Given the description of an element on the screen output the (x, y) to click on. 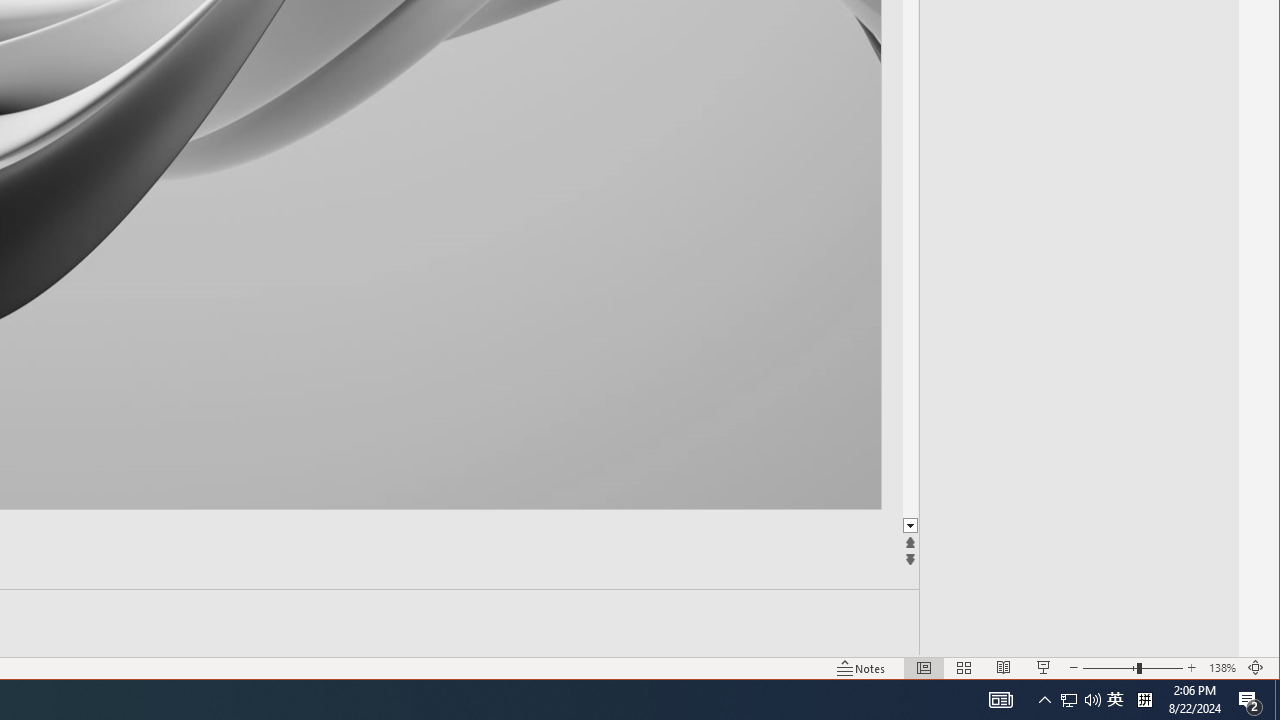
Zoom (1132, 668)
Line down (1229, 525)
Zoom Out (1109, 668)
Reading View (1004, 668)
Normal (923, 668)
